Given the description of an element on the screen output the (x, y) to click on. 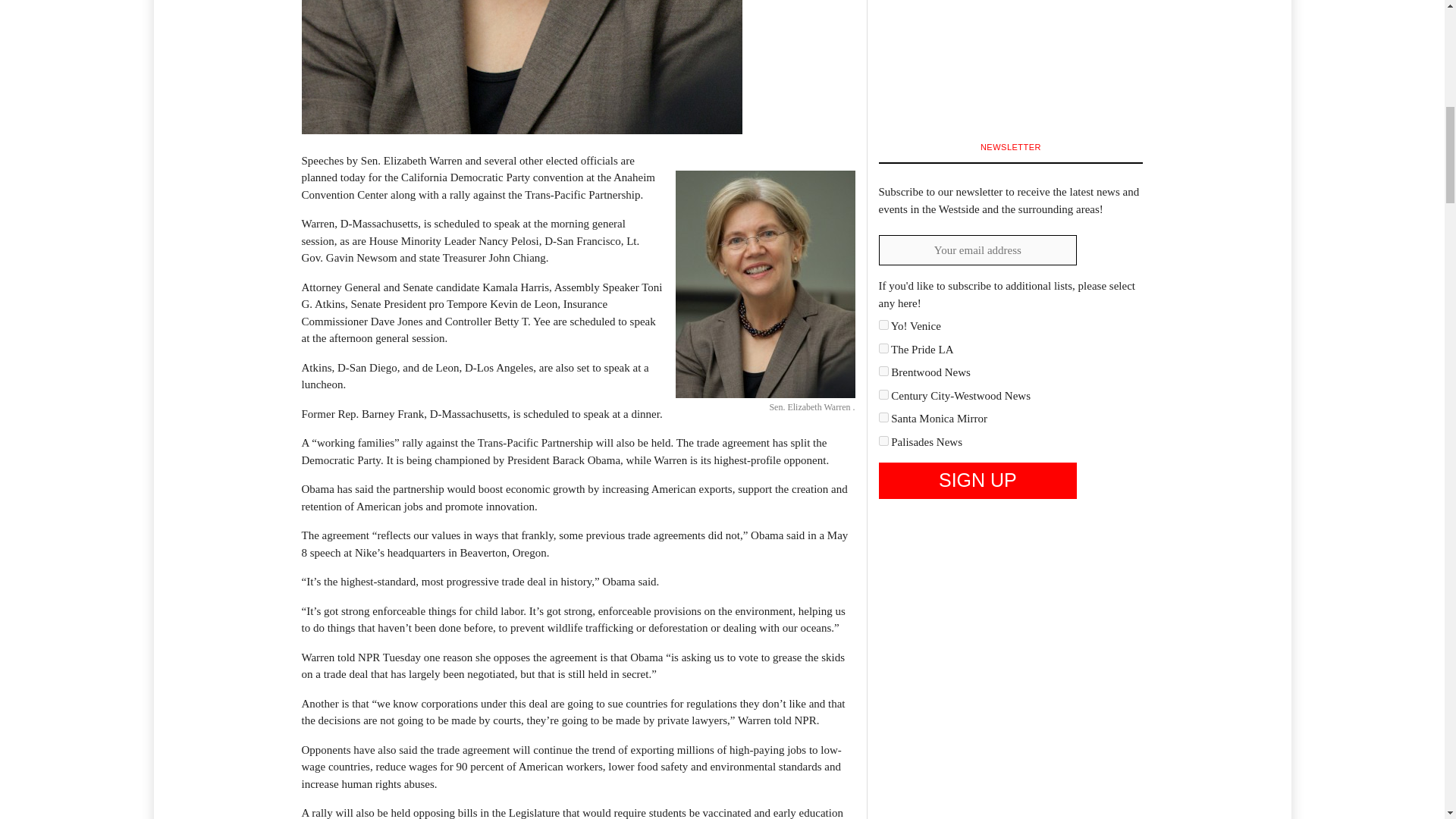
382281a661 (882, 370)
d0b5733862 (882, 417)
ec7d882848 (882, 440)
5fac618226 (882, 394)
2c616d28b5 (882, 325)
33f79e7e4d (882, 347)
Sign up (977, 480)
